Given the description of an element on the screen output the (x, y) to click on. 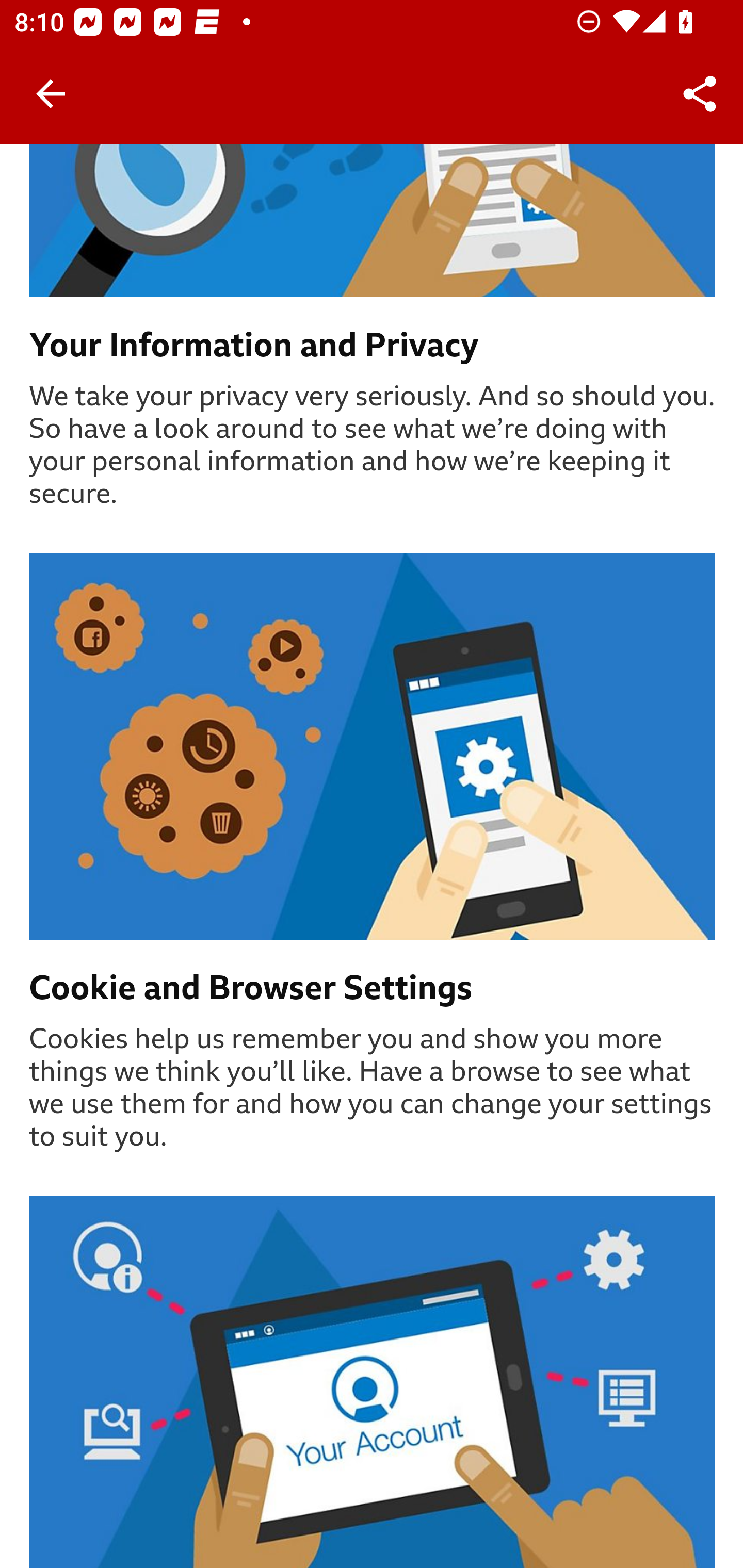
Back (50, 93)
Share (699, 93)
Your Information and Privacy (372, 347)
Cookie and Browser Settings (372, 989)
